Given the description of an element on the screen output the (x, y) to click on. 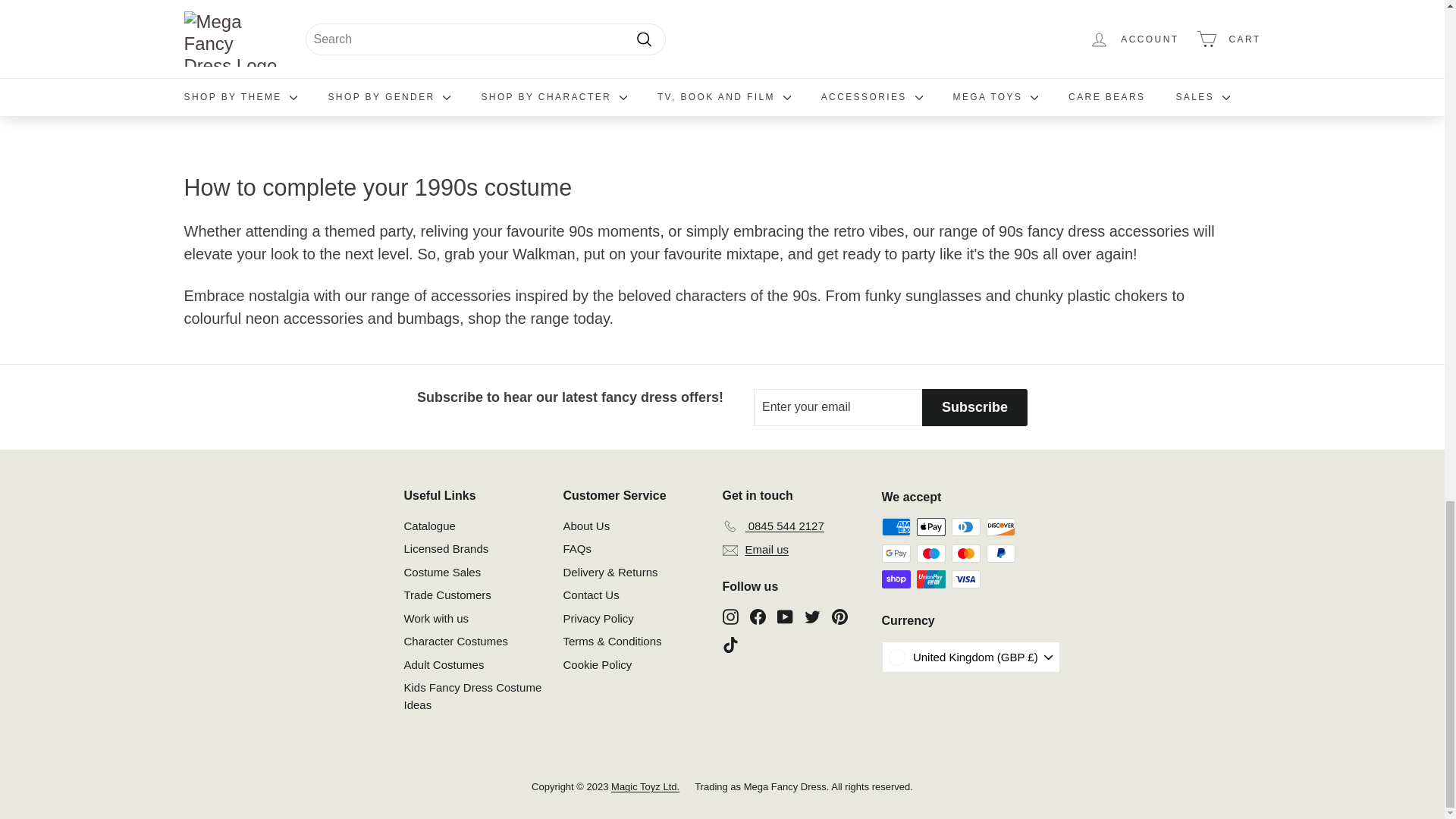
Mega Fancy Dress UK on YouTube (784, 615)
Mega Fancy Dress UK on Twitter (811, 615)
Mega Fancy Dress UK on Instagram (730, 615)
Mega Fancy Dress UK on Facebook (757, 615)
